Given the description of an element on the screen output the (x, y) to click on. 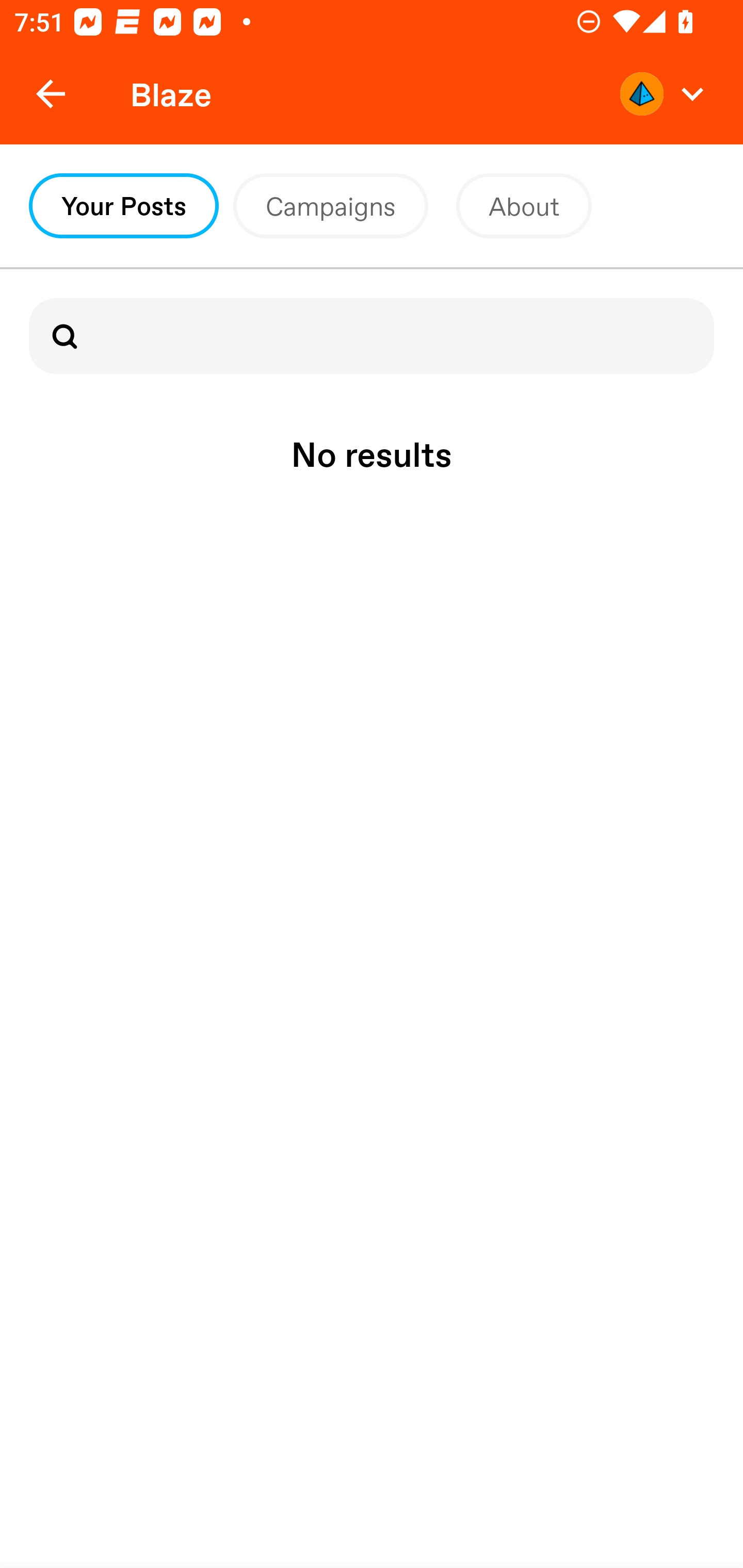
Back (50, 93)
Campaigns (330, 206)
About (523, 206)
Search blog (371, 336)
